Given the description of an element on the screen output the (x, y) to click on. 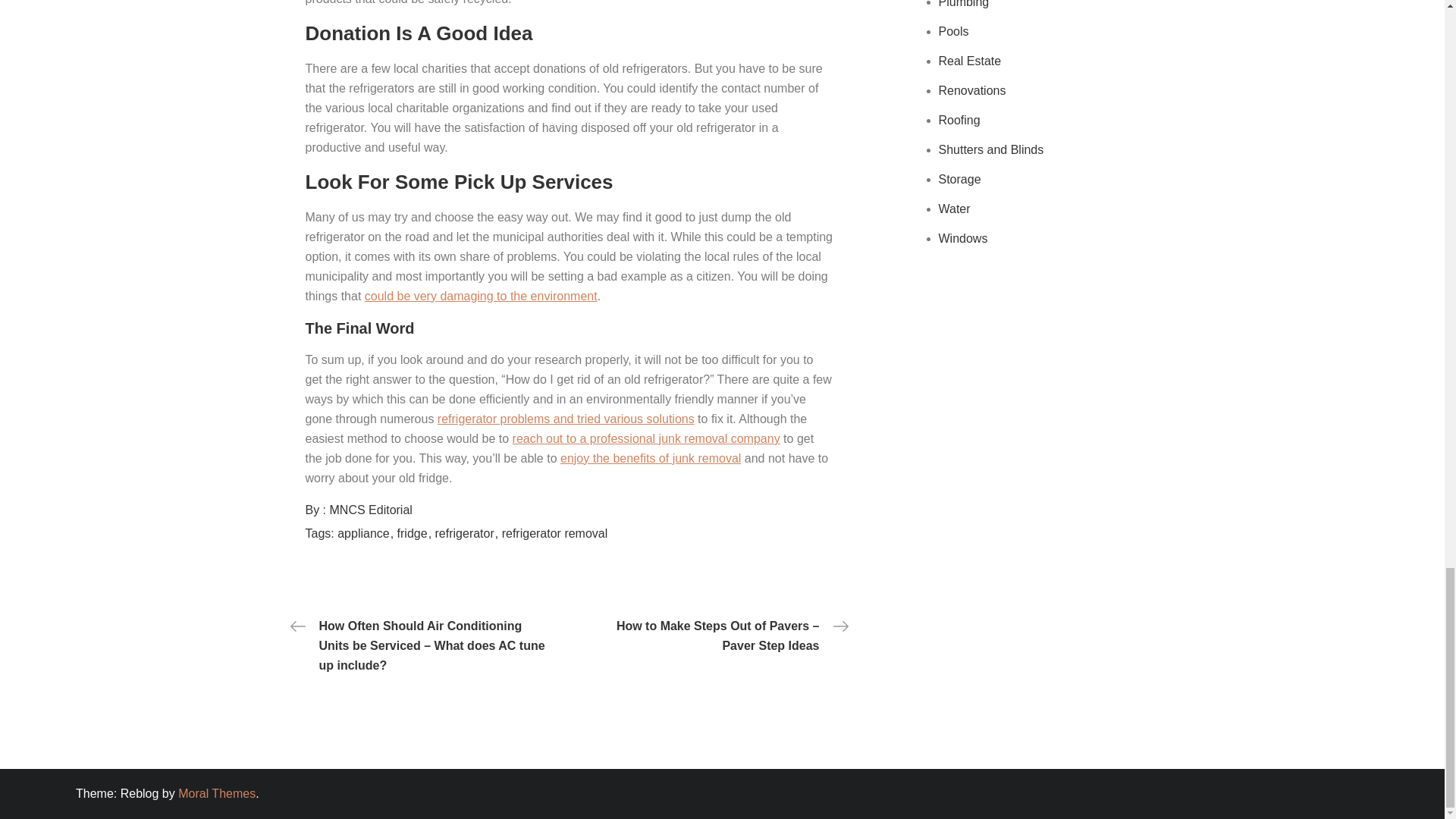
enjoy the benefits of junk removal (650, 458)
refrigerator (467, 533)
could be very damaging to the environment (480, 295)
reach out to a professional junk removal company (646, 438)
refrigerator problems and tried various solutions (566, 418)
refrigerator removal (555, 533)
MNCS Editorial (371, 509)
appliance (365, 533)
fridge (413, 533)
